Given the description of an element on the screen output the (x, y) to click on. 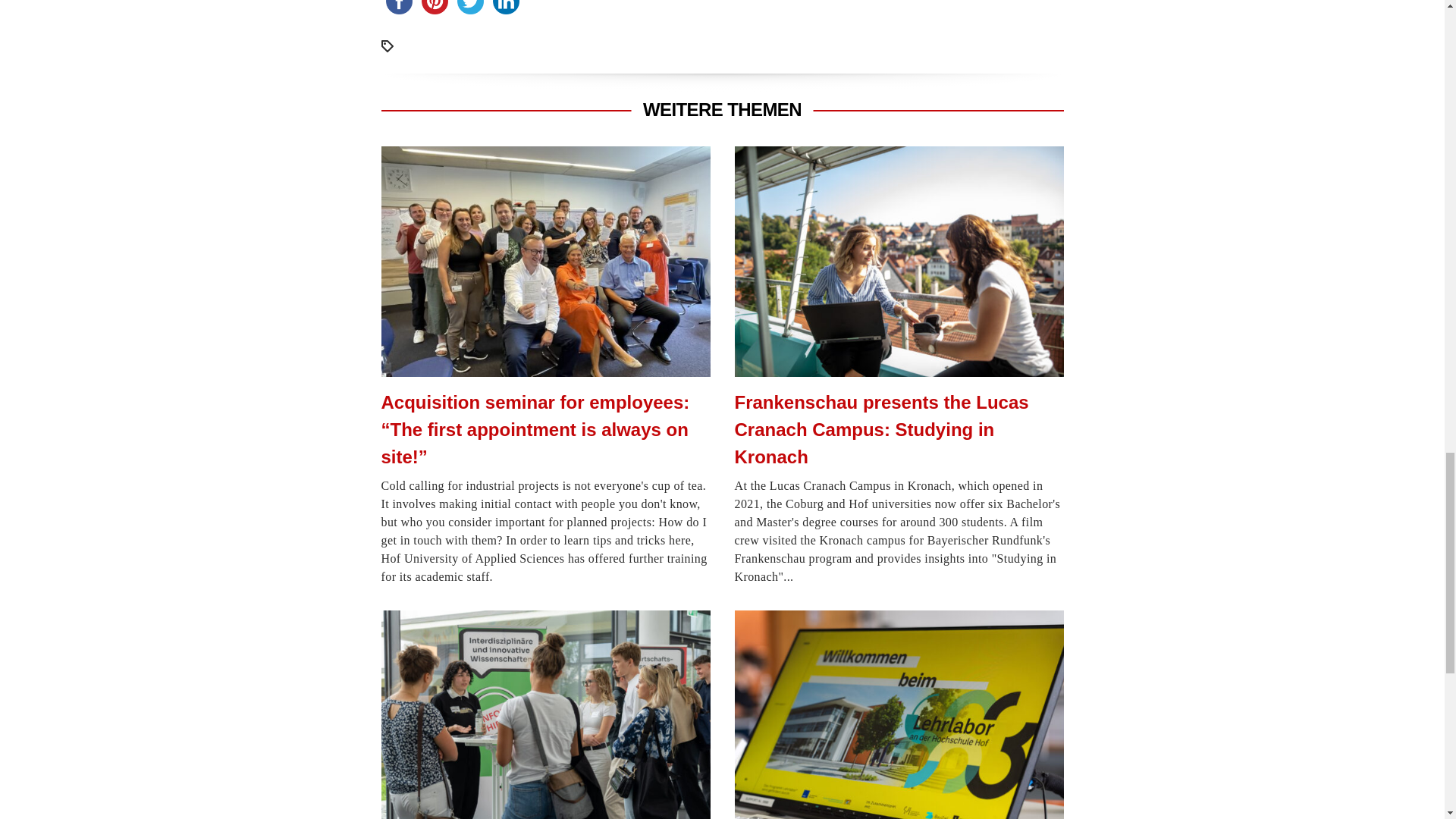
facebook (398, 9)
linkedin (505, 9)
pinterest (434, 9)
twitter (469, 9)
